Given the description of an element on the screen output the (x, y) to click on. 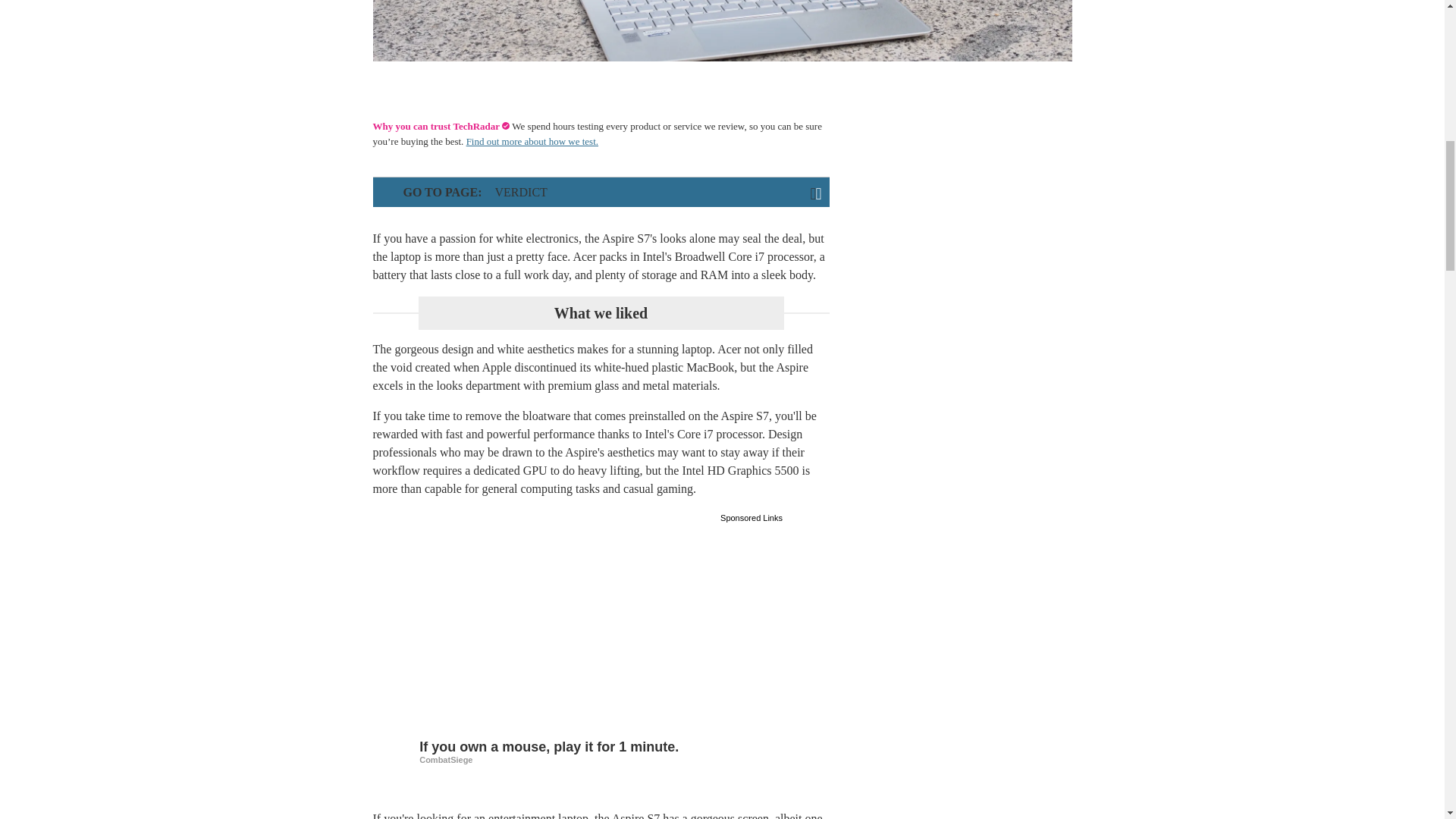
If you own a mouse, play it for 1 minute. (601, 750)
If you own a mouse, play it for 1 minute. (601, 631)
